Given the description of an element on the screen output the (x, y) to click on. 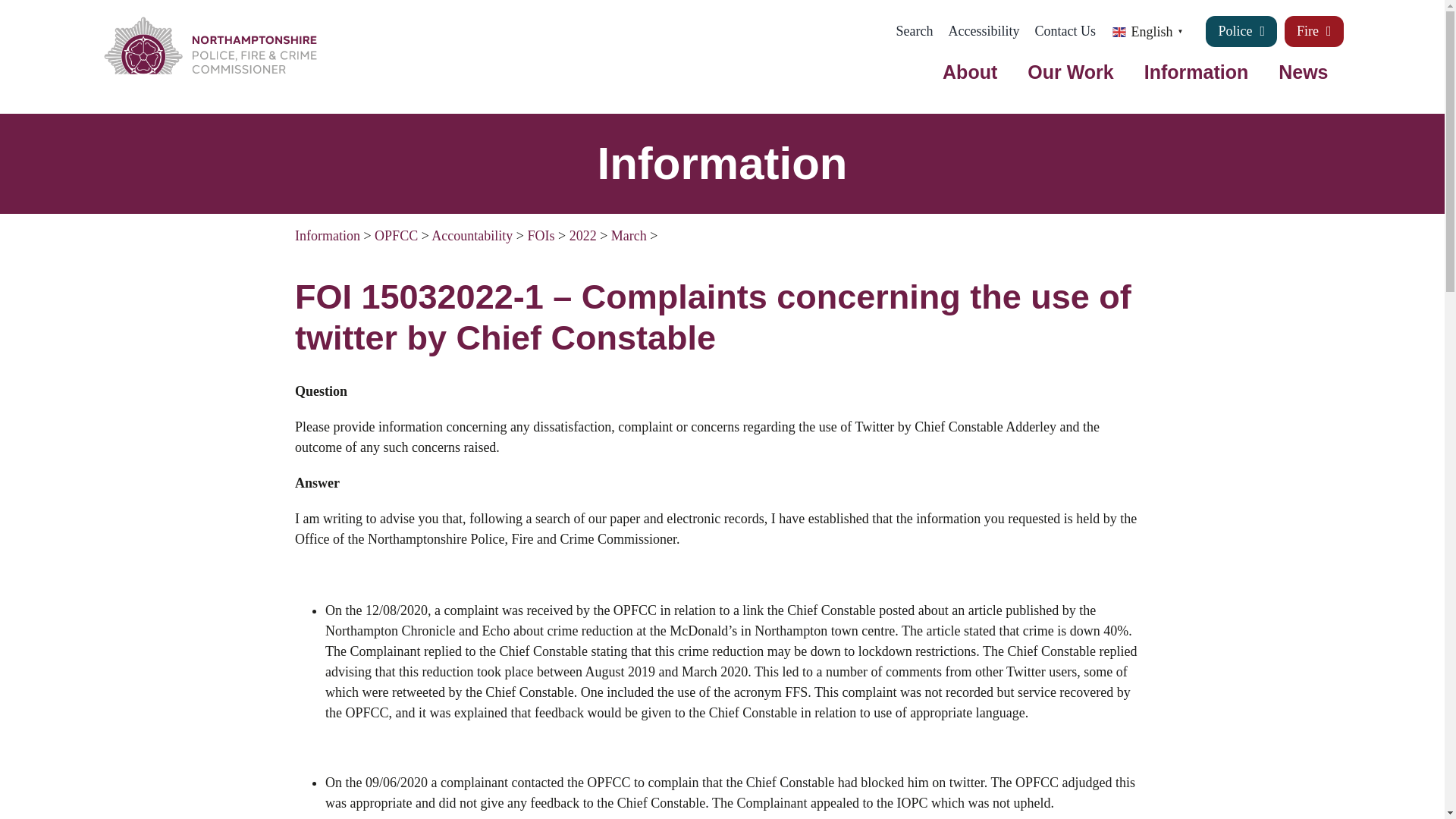
Accessibility (990, 30)
Search (922, 30)
Contact Us (1071, 30)
